Given the description of an element on the screen output the (x, y) to click on. 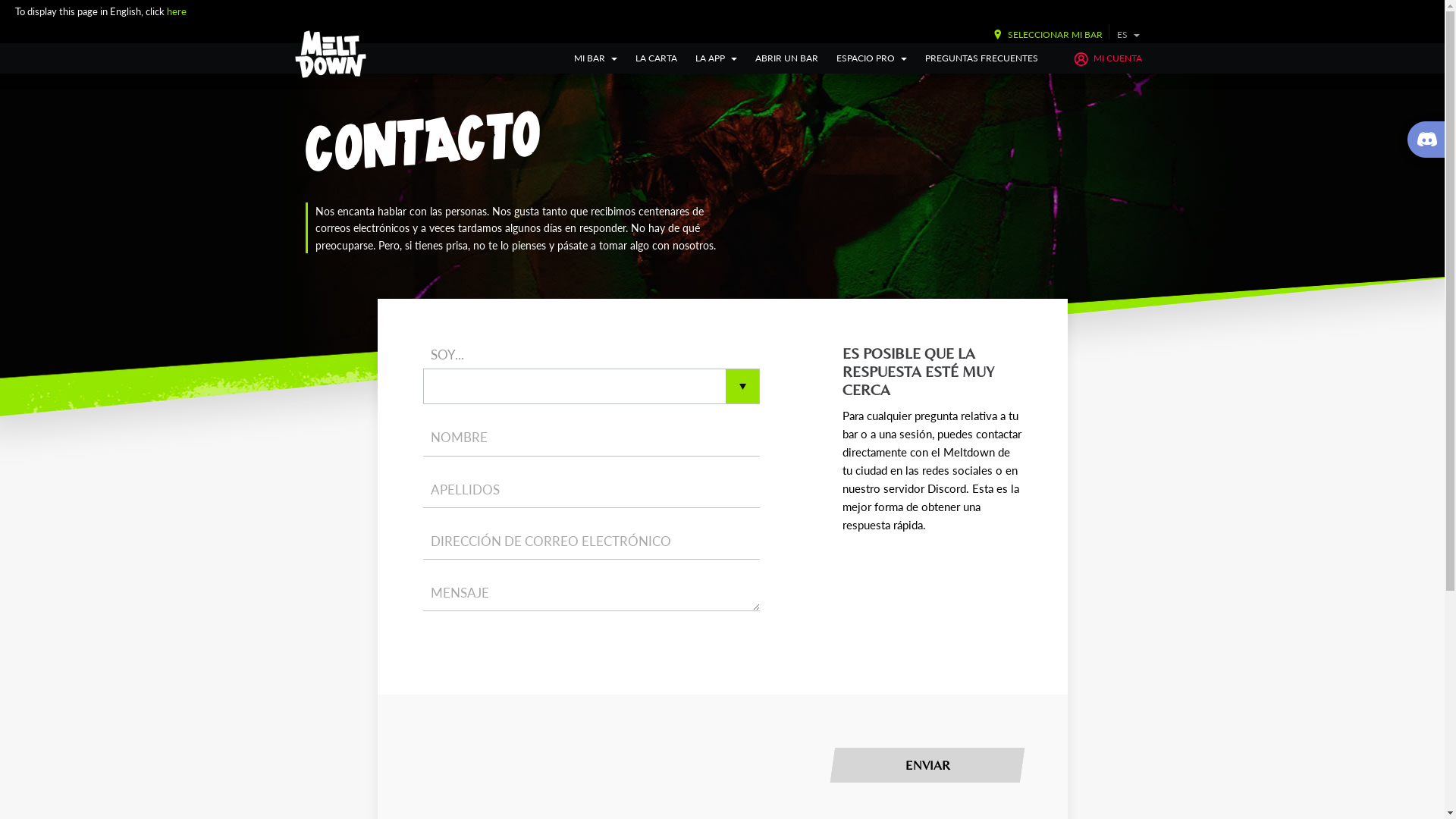
ABRIR UN BAR Element type: text (786, 58)
LA APP Element type: text (716, 58)
MI BAR Element type: text (595, 58)
SELECCIONAR MI BAR Element type: text (1043, 34)
ENVIAR Element type: text (924, 764)
LA CARTA Element type: text (656, 58)
ES Element type: text (1128, 34)
PREGUNTAS FRECUENTES Element type: text (981, 58)
MI CUENTA Element type: text (1106, 58)
ESPACIO PRO Element type: text (871, 58)
here Element type: text (176, 10)
MELTDOWN Element type: text (330, 54)
